Given the description of an element on the screen output the (x, y) to click on. 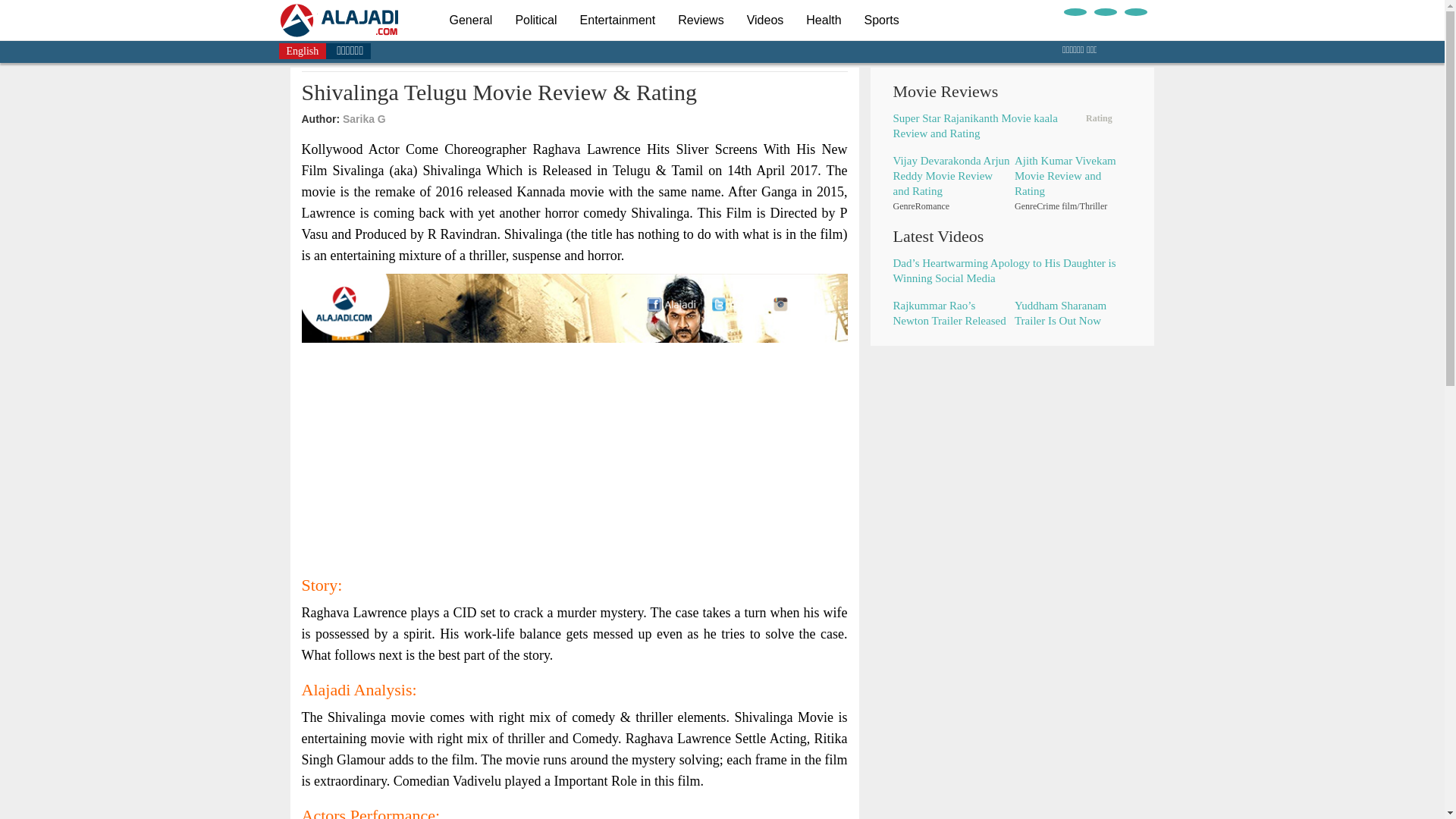
Sports (882, 20)
Reviews (700, 20)
Sarika G (363, 119)
Facebook (1074, 11)
Super Star Rajanikanth Movie kaala Review and Rating (975, 125)
General (470, 20)
General (470, 20)
Vijay Devarakonda Arjun Reddy Movie Review and Rating (951, 175)
Twitter (1104, 11)
Posts by Sarika G (363, 119)
